Given the description of an element on the screen output the (x, y) to click on. 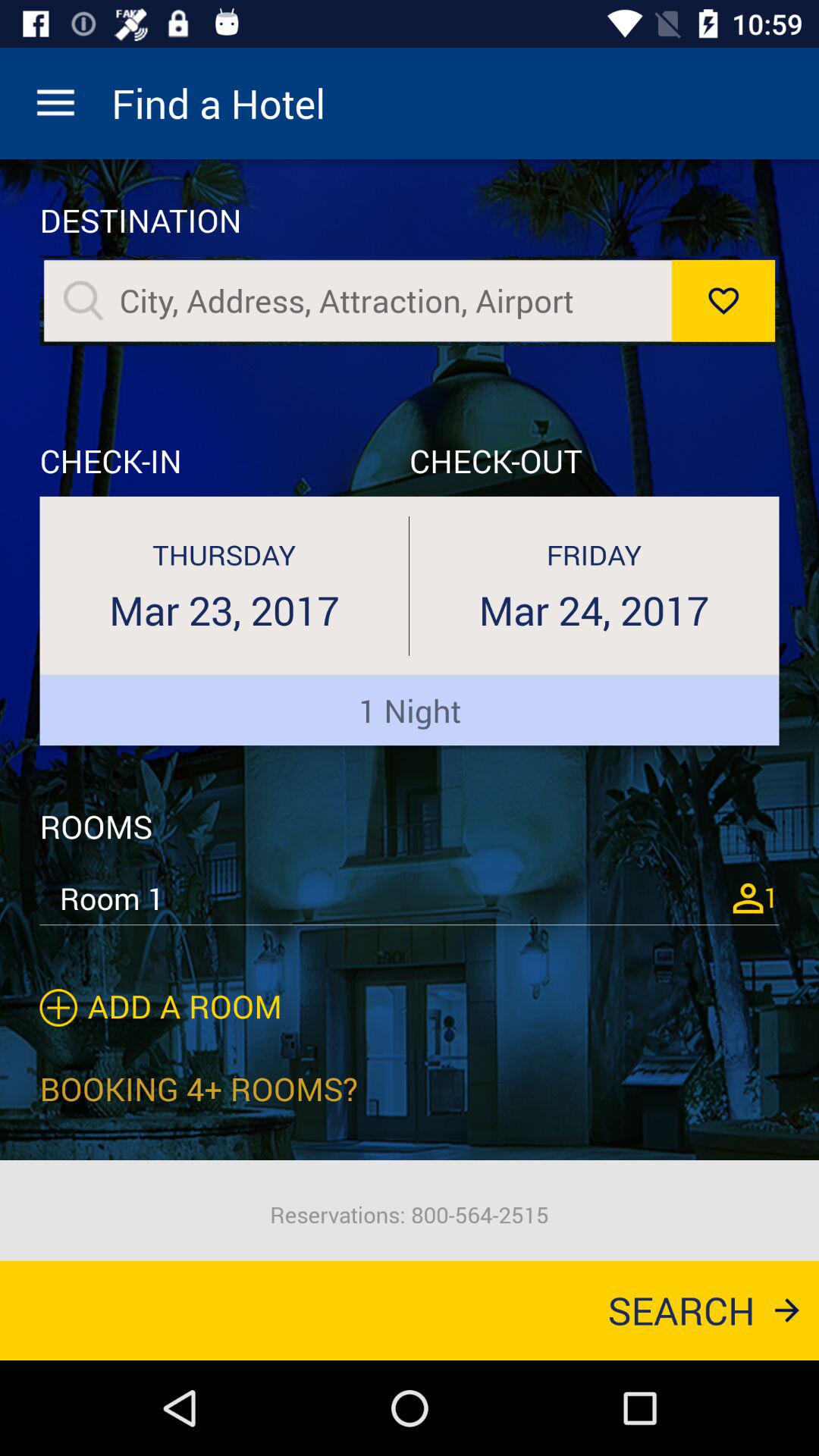
go to like button (723, 300)
